Given the description of an element on the screen output the (x, y) to click on. 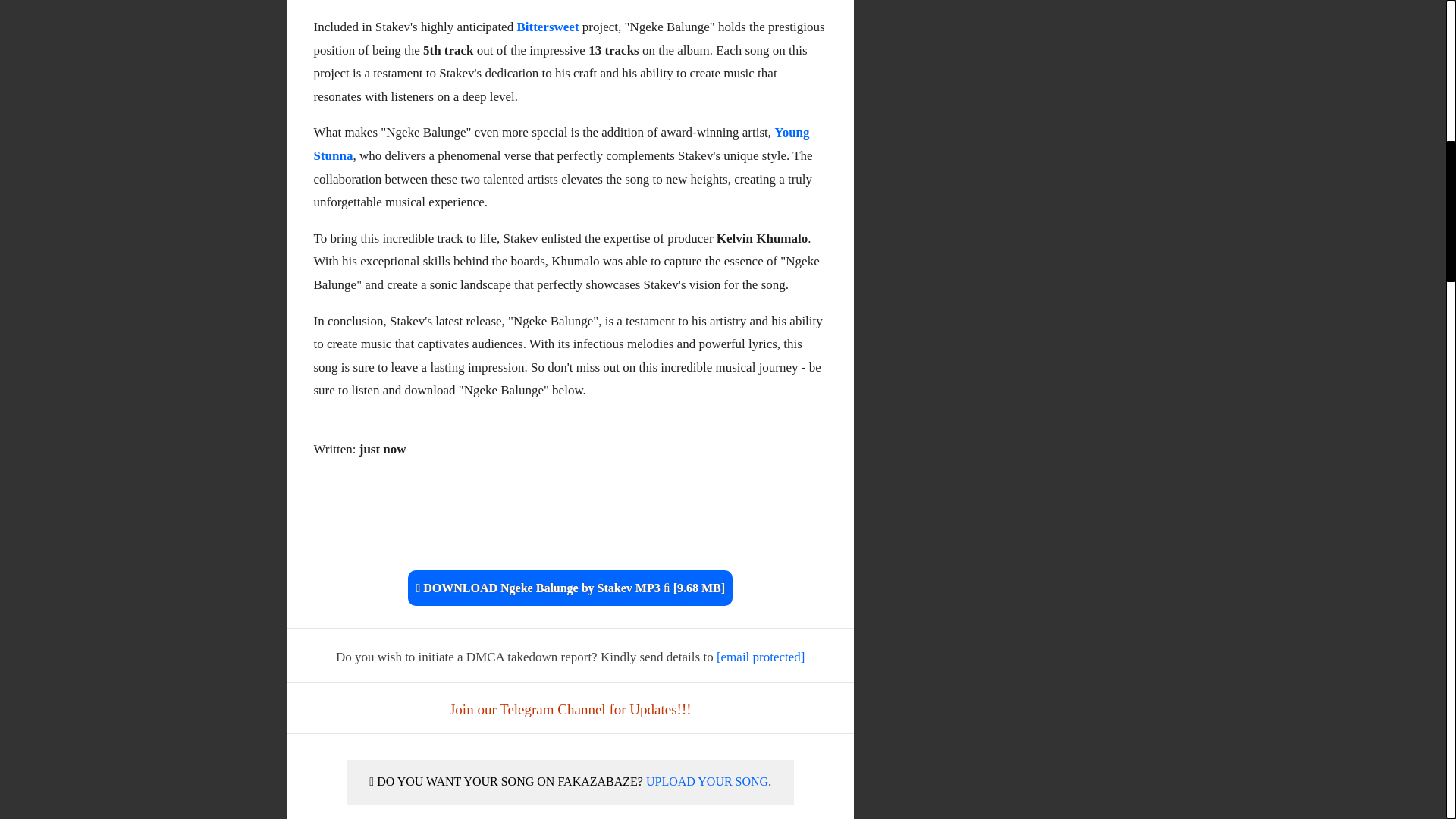
Bittersweet (547, 26)
Join our Telegram Channel for Updates!!! (570, 709)
Young Stunna (561, 143)
Music Player (569, 529)
